Given the description of an element on the screen output the (x, y) to click on. 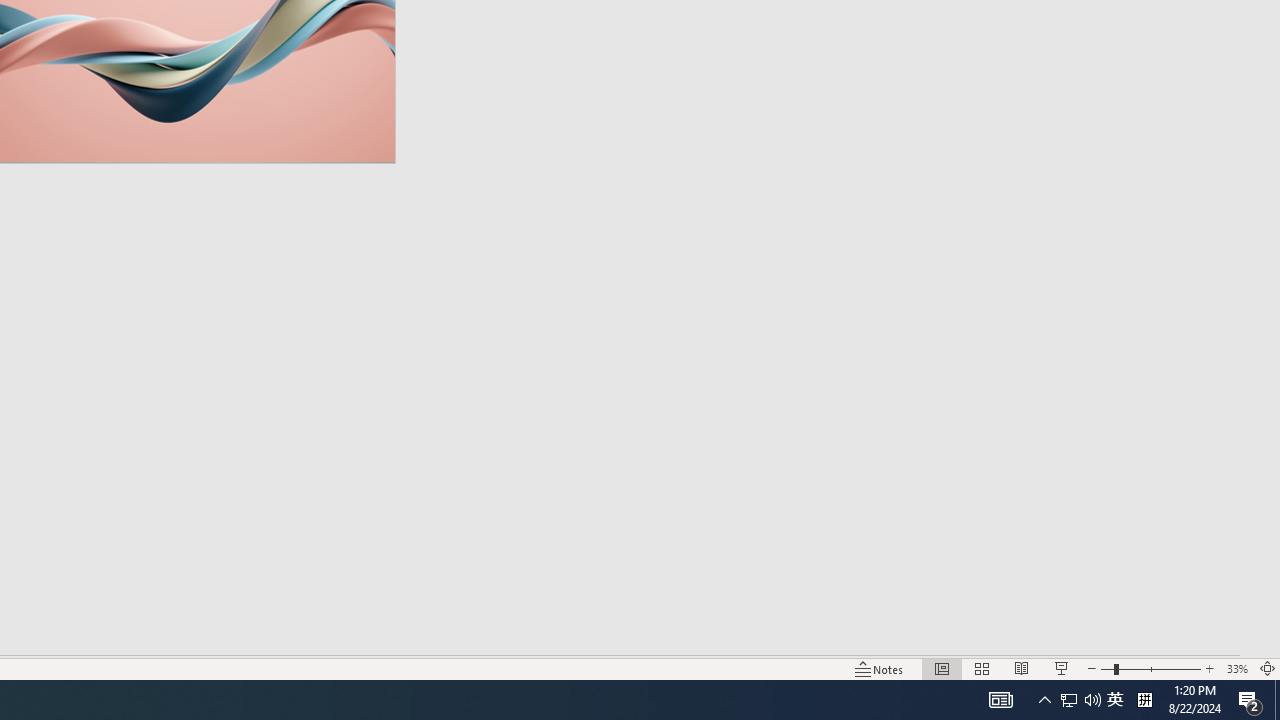
Zoom 33% (1236, 668)
